Given the description of an element on the screen output the (x, y) to click on. 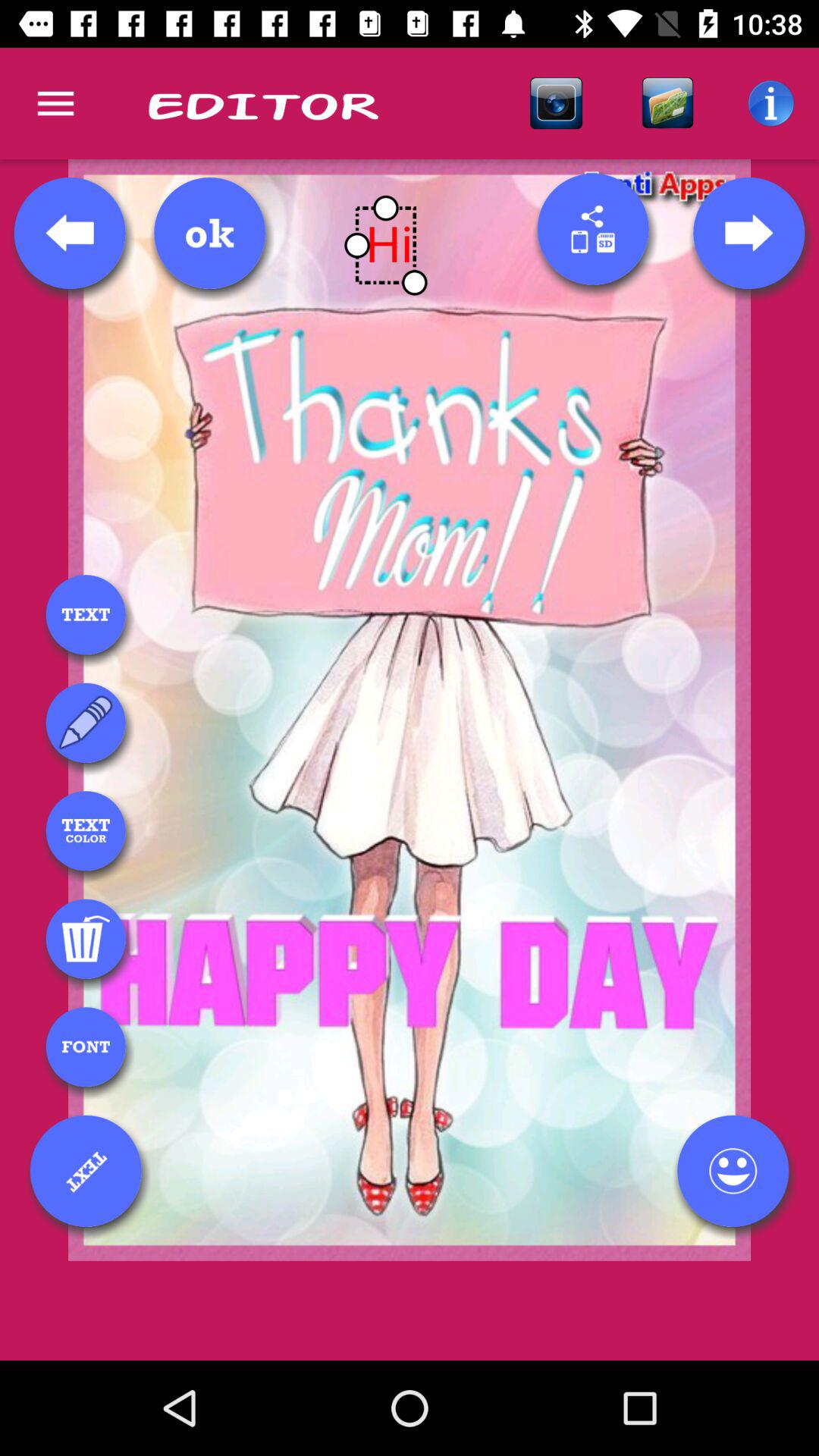
open the item below the editor icon (209, 233)
